Given the description of an element on the screen output the (x, y) to click on. 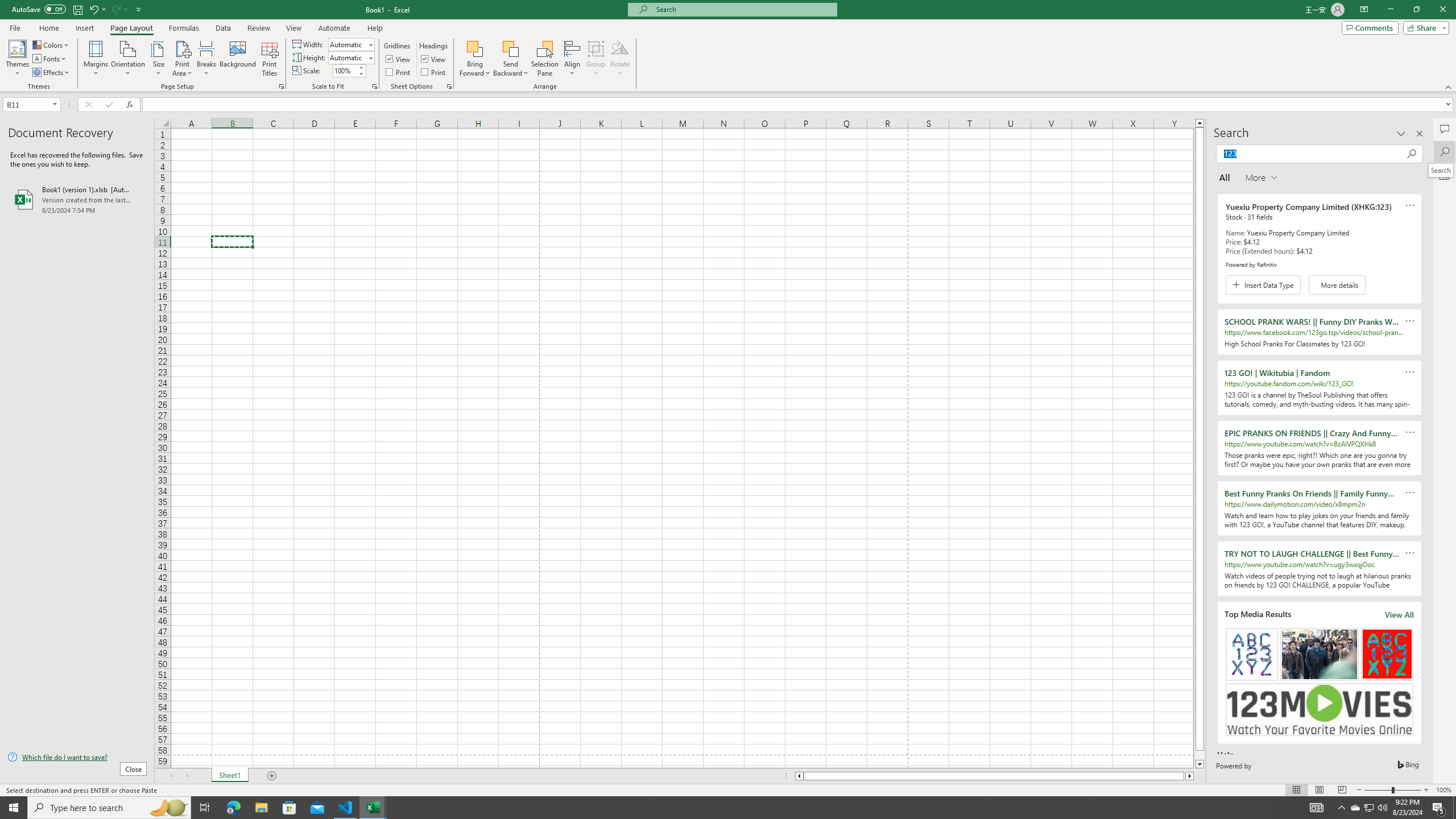
Bring Forward (475, 48)
Class: MsoCommandBar (728, 45)
Send Backward (510, 58)
Height (350, 56)
Formula Bar (799, 104)
Page down (1199, 755)
Automate (334, 28)
Page Setup (374, 85)
